Given the description of an element on the screen output the (x, y) to click on. 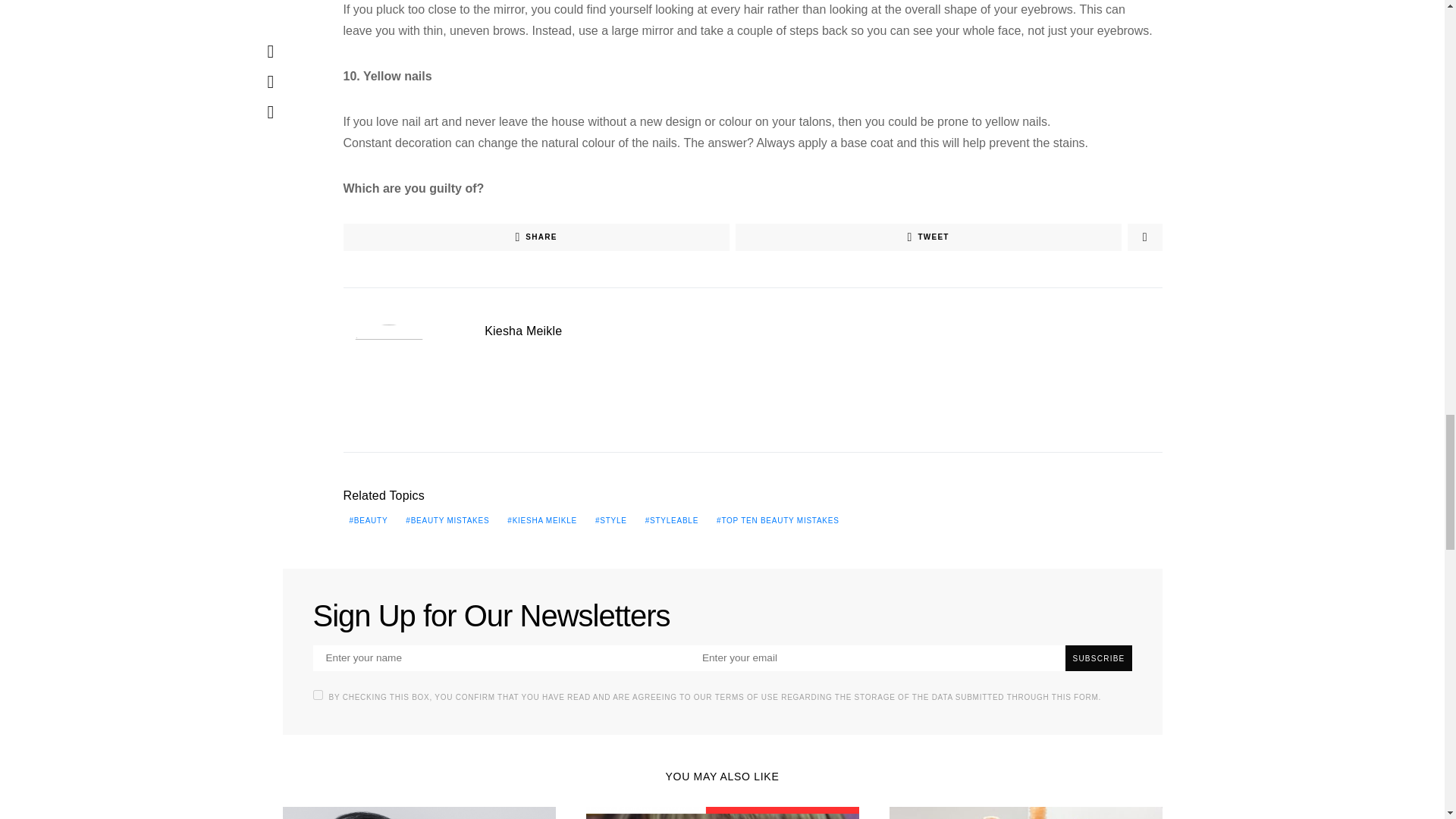
on (317, 695)
